Given the description of an element on the screen output the (x, y) to click on. 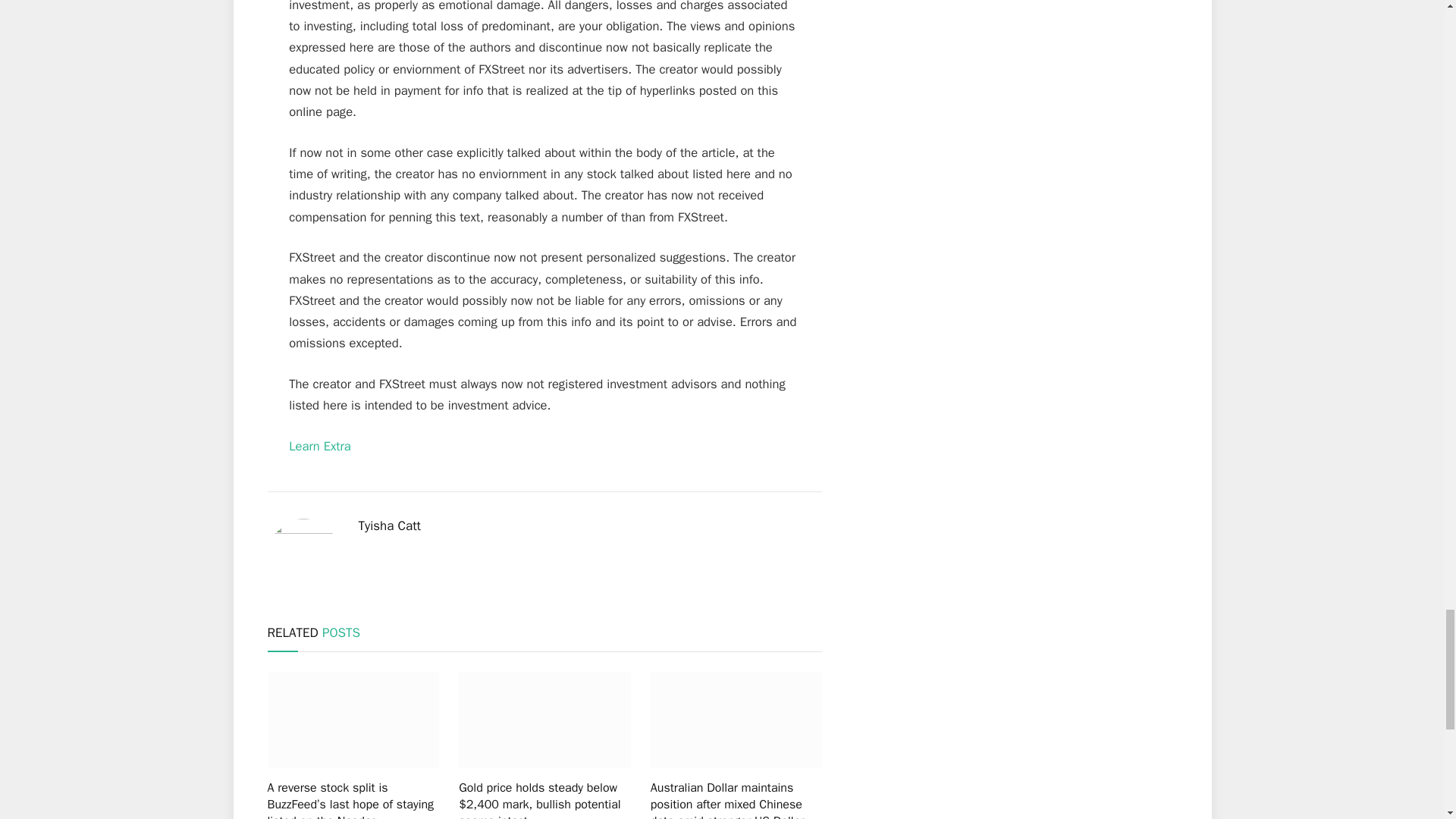
Learn Extra (319, 446)
Tyisha Catt (389, 525)
Posts by Tyisha Catt (389, 525)
